Given the description of an element on the screen output the (x, y) to click on. 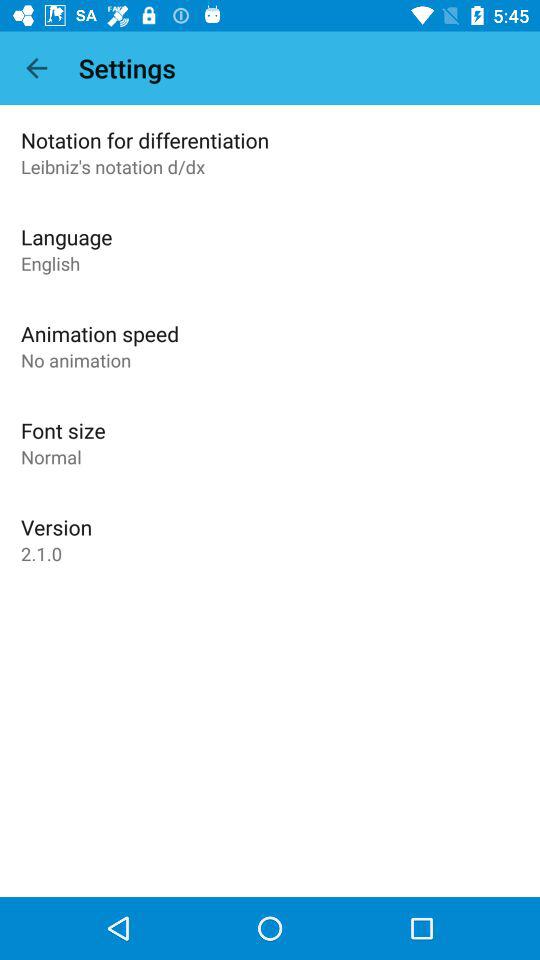
turn on the item above the animation speed icon (50, 263)
